Given the description of an element on the screen output the (x, y) to click on. 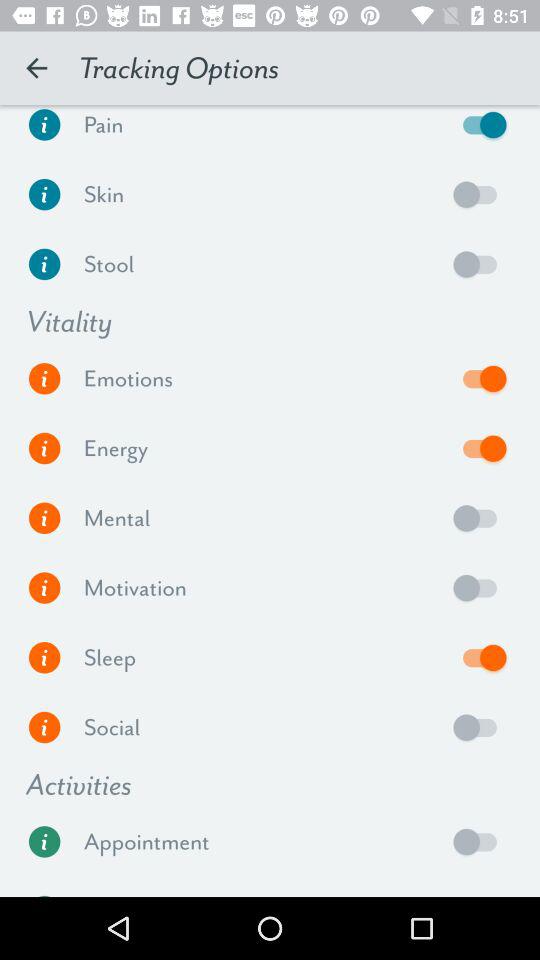
see more information about the option (44, 841)
